Given the description of an element on the screen output the (x, y) to click on. 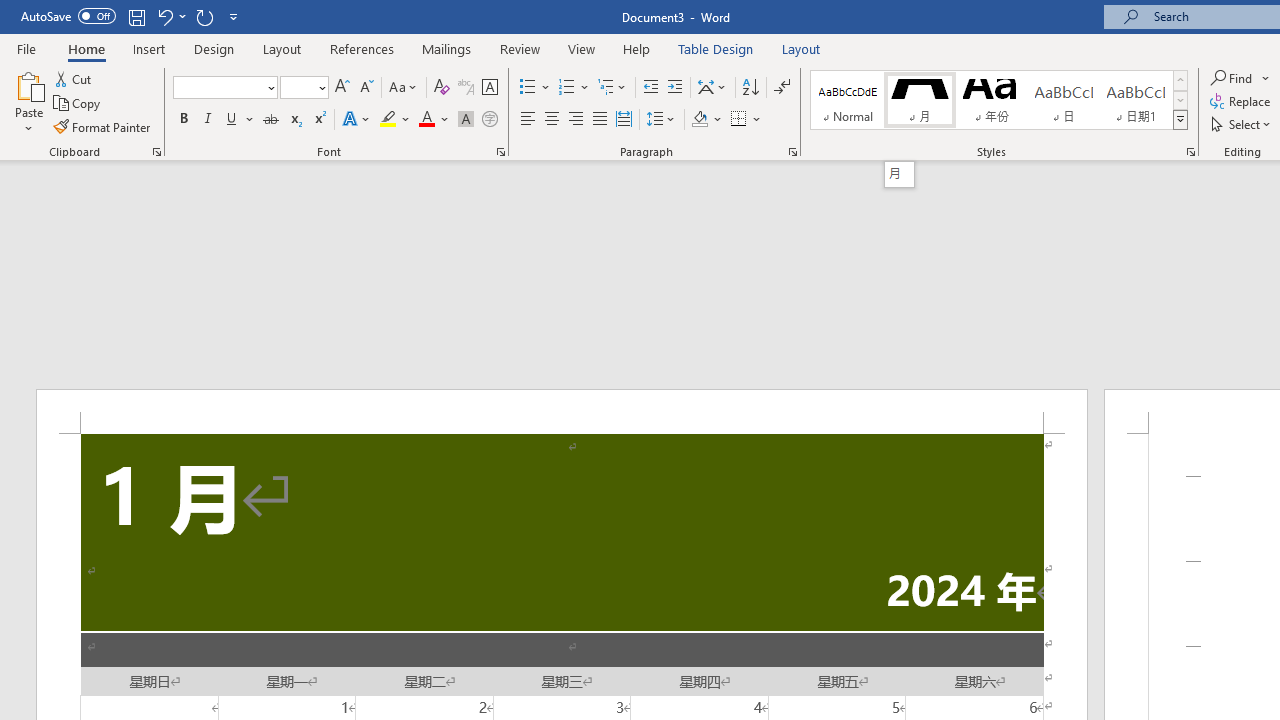
Character Shading (465, 119)
Text Highlight Color Yellow (388, 119)
Asian Layout (712, 87)
Center (552, 119)
Distributed (623, 119)
Subscript (294, 119)
Show/Hide Editing Marks (781, 87)
